Given the description of an element on the screen output the (x, y) to click on. 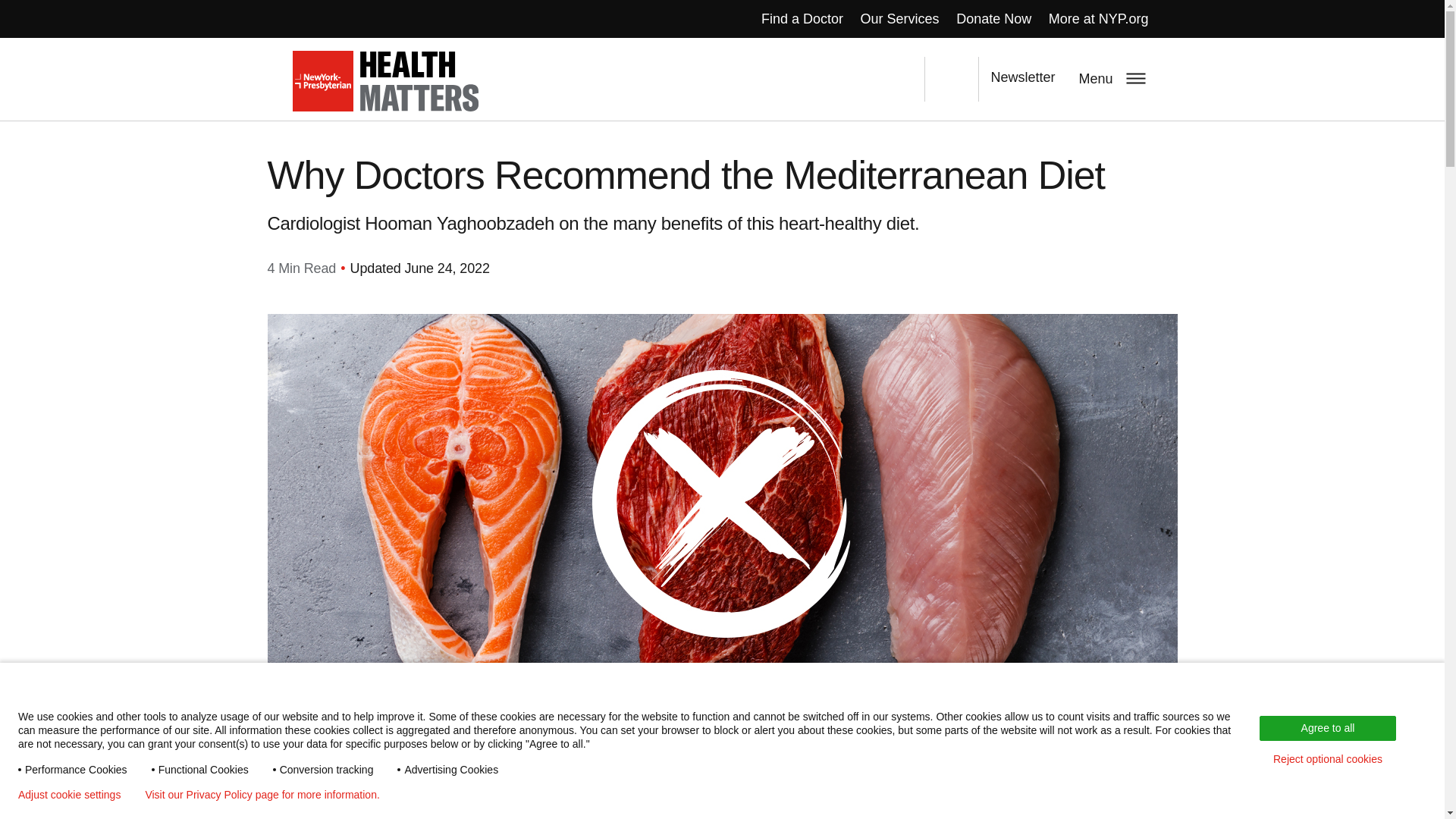
Like us on Facebook (792, 78)
More at NYP.org (1099, 18)
Follow our YouTube channel (862, 78)
Our Services (899, 18)
Donate Now (993, 18)
Menu (1110, 76)
Skip to content (44, 2)
Connect on LinkedIn (826, 78)
Find a Doctor (802, 18)
Newsletter (1021, 78)
Follow us on Instagram (897, 78)
